Given the description of an element on the screen output the (x, y) to click on. 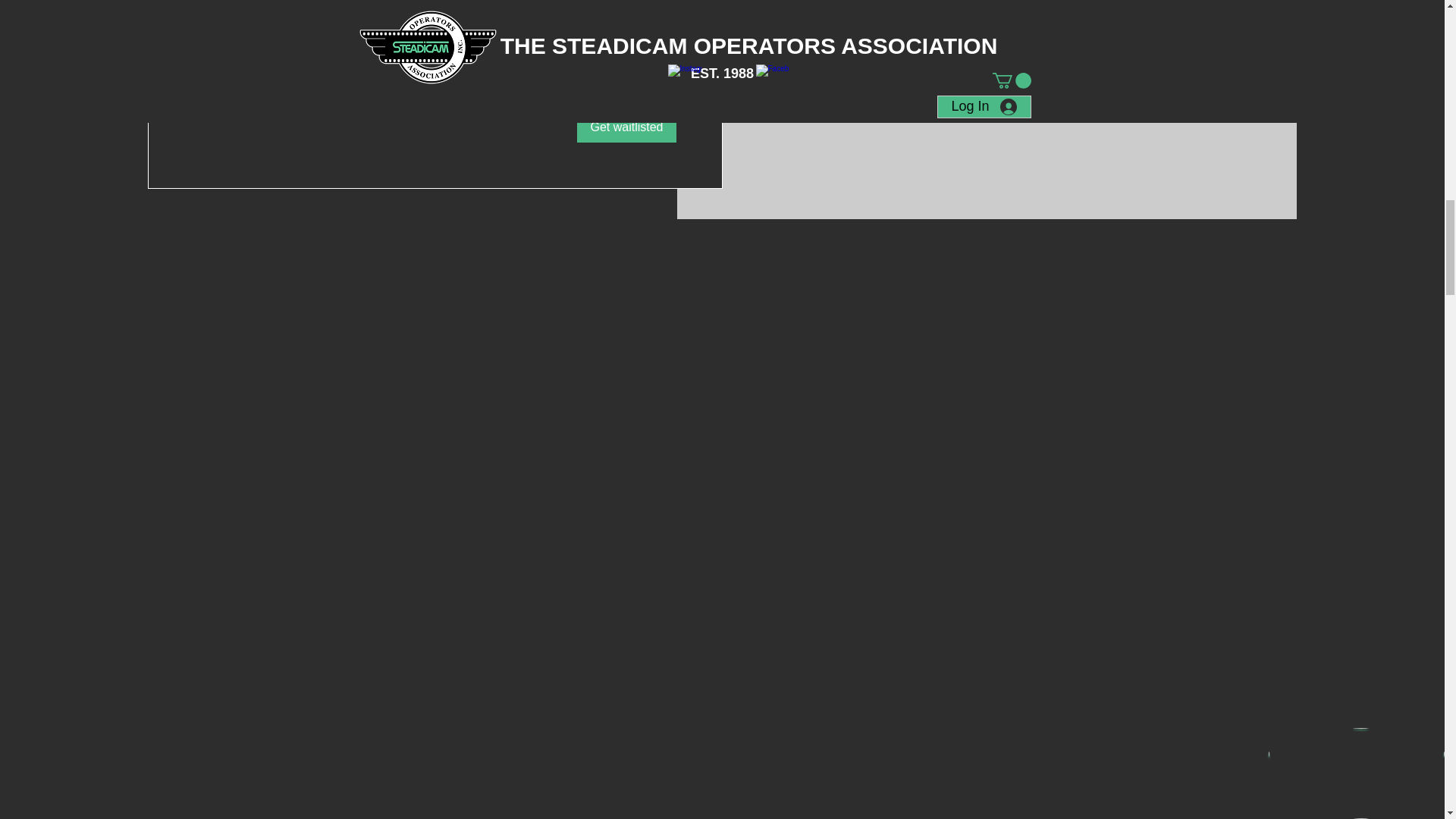
Read More (435, 65)
Get waitlisted (625, 127)
Workshop sold out? (435, 10)
